Given the description of an element on the screen output the (x, y) to click on. 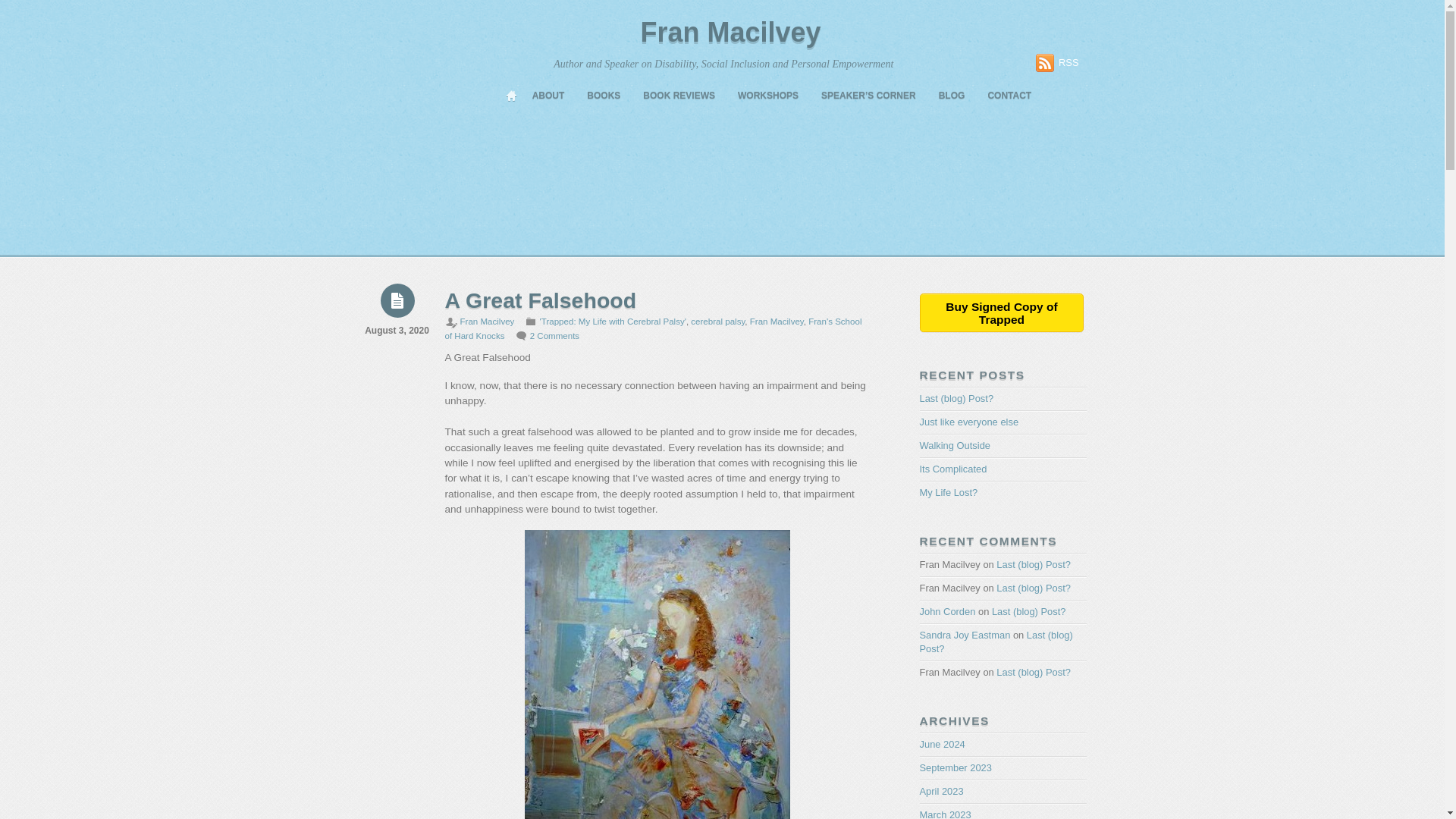
Fran Macilvey (730, 31)
Its Complicated (952, 469)
HOME (511, 95)
2 Comments (554, 335)
Fran Macilvey (486, 320)
Just like everyone else (967, 421)
A Great Falsehood (540, 300)
Fran Macilvey (776, 320)
Fran's School of Hard Knocks (652, 327)
RSS (1056, 62)
cerebral palsy (717, 320)
WORKSHOPS (767, 95)
My Life Lost? (947, 491)
BOOKS (603, 95)
ABOUT (548, 95)
